Given the description of an element on the screen output the (x, y) to click on. 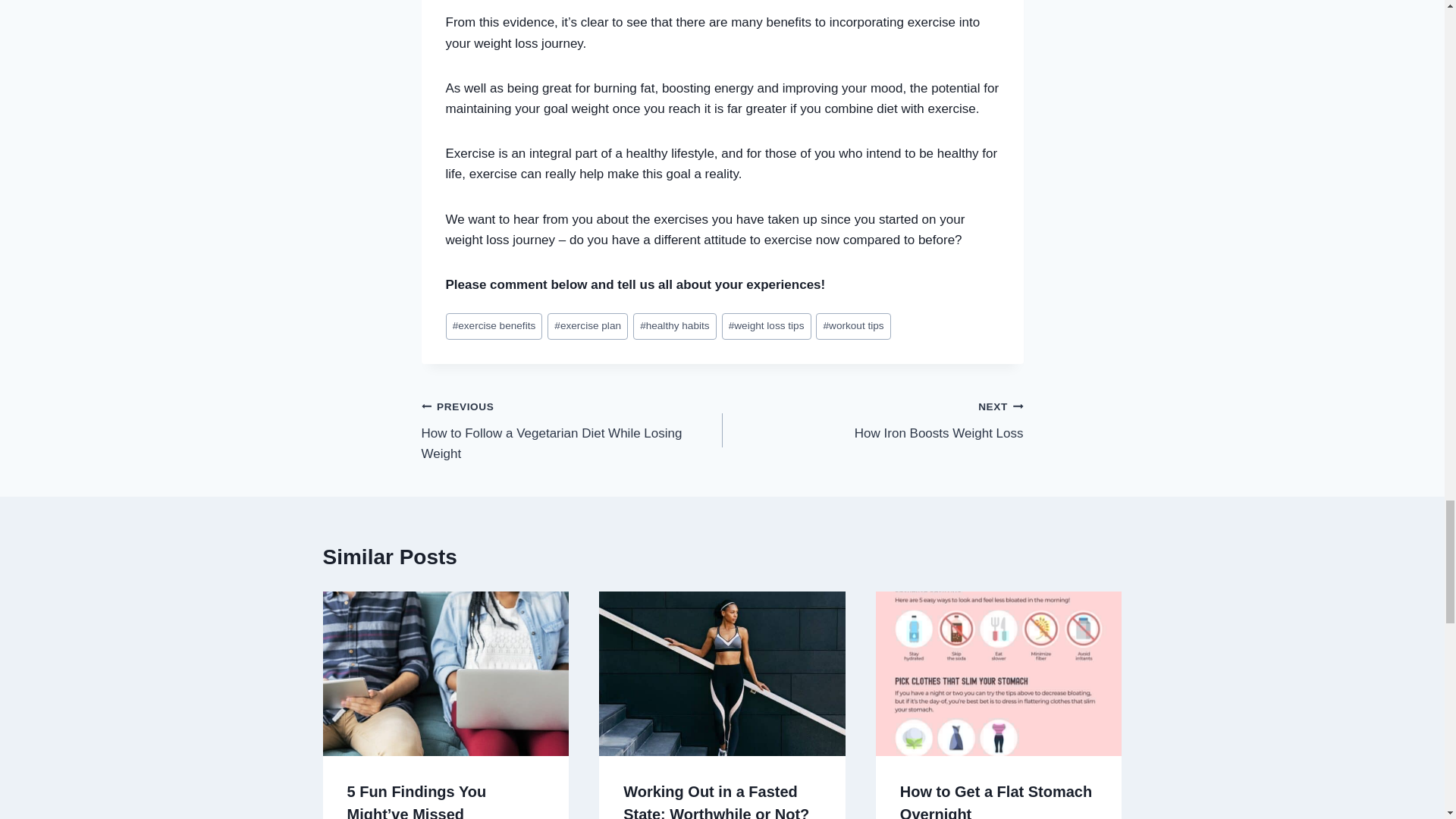
healthy habits (674, 325)
exercise plan (587, 325)
exercise benefits (494, 325)
weight loss tips (872, 419)
workout tips (766, 325)
